Given the description of an element on the screen output the (x, y) to click on. 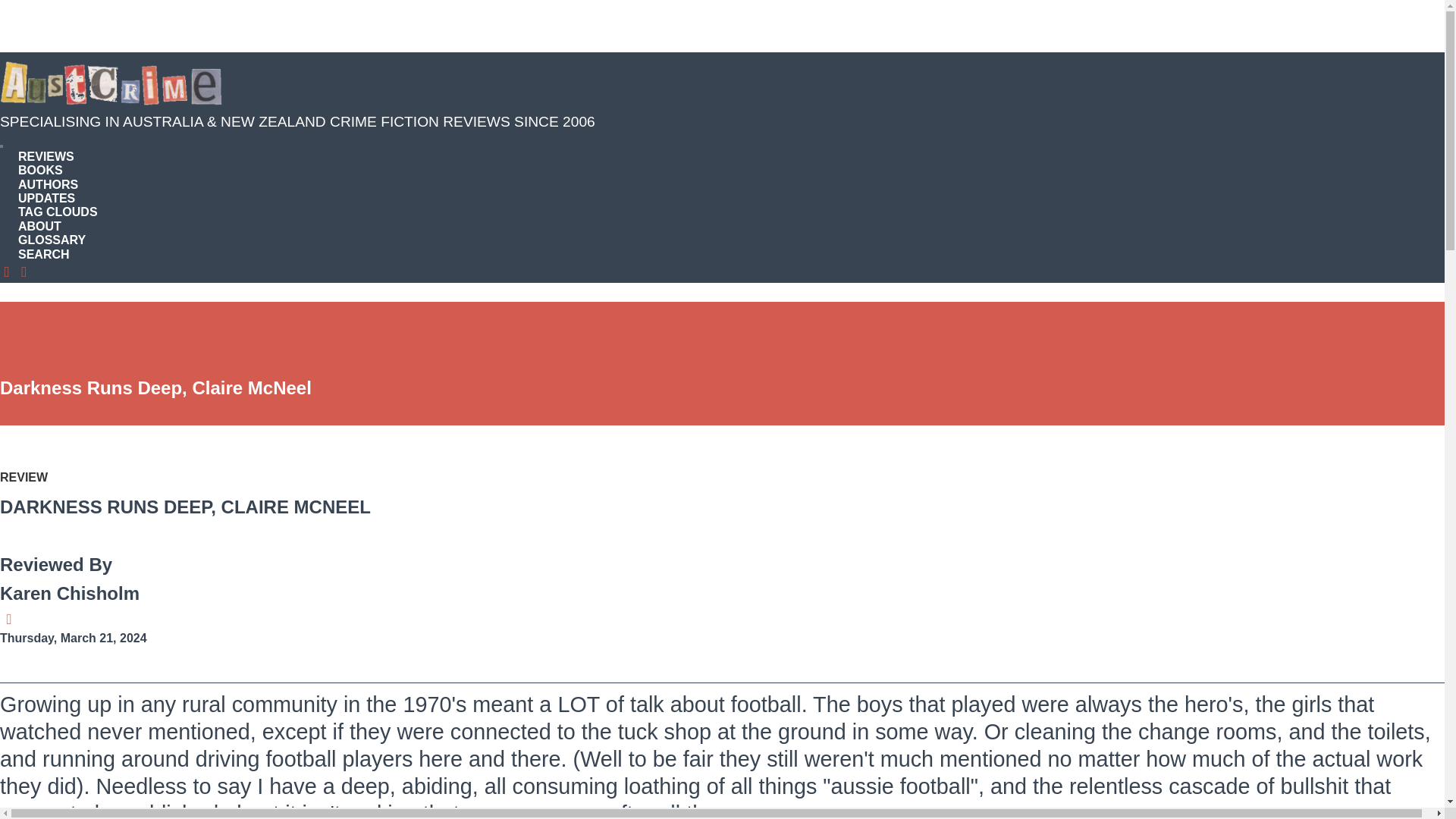
GLOSSARY (51, 239)
REVIEWS (45, 155)
SEARCH (43, 254)
AUTHORS (47, 184)
TAG CLOUDS (57, 211)
About this Site (39, 226)
Home (116, 83)
UPDATES (46, 197)
ABOUT (39, 226)
Tag Clouds (57, 211)
BOOKS (39, 169)
